Given the description of an element on the screen output the (x, y) to click on. 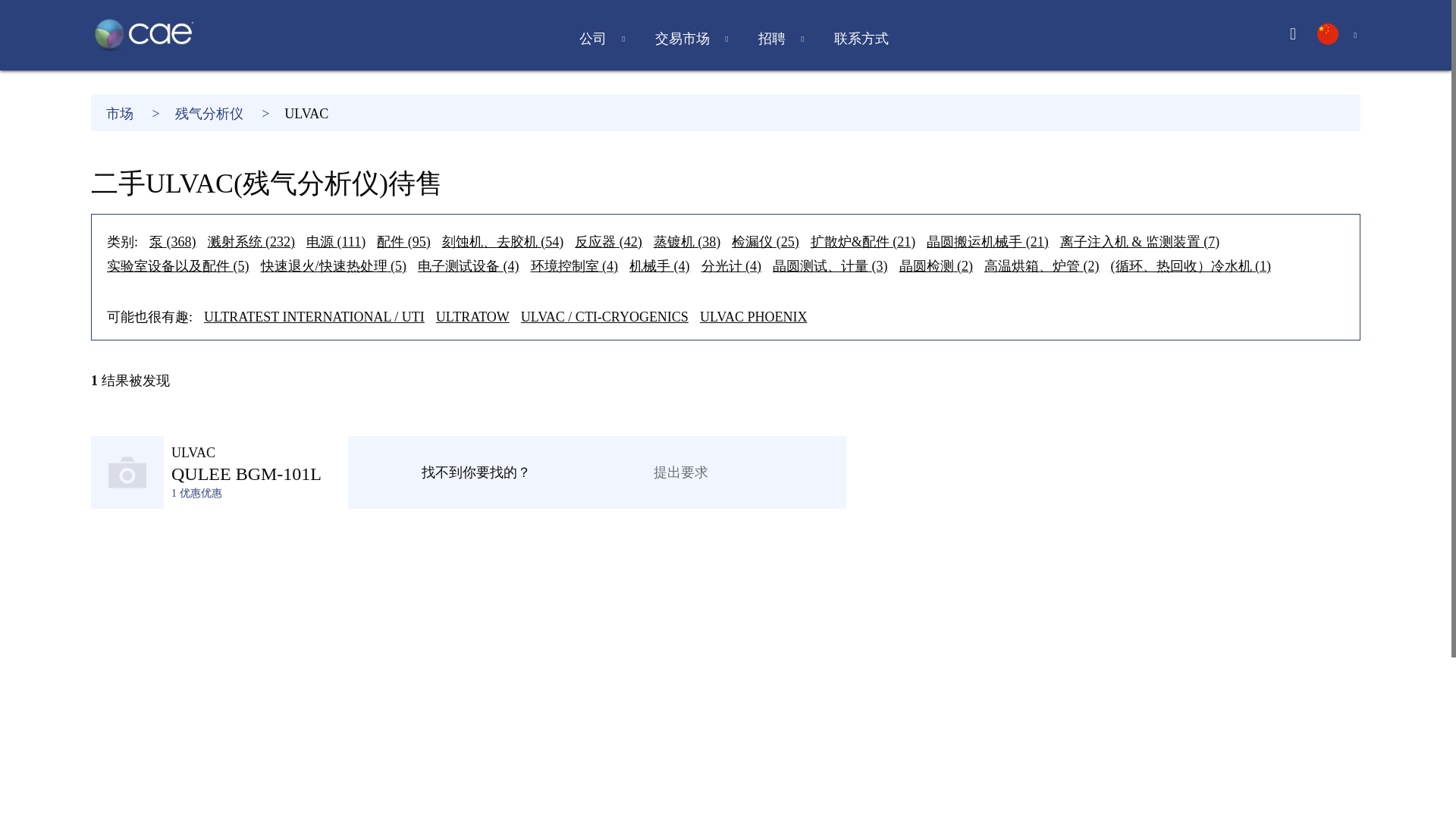
CAE Logo (143, 34)
